Given the description of an element on the screen output the (x, y) to click on. 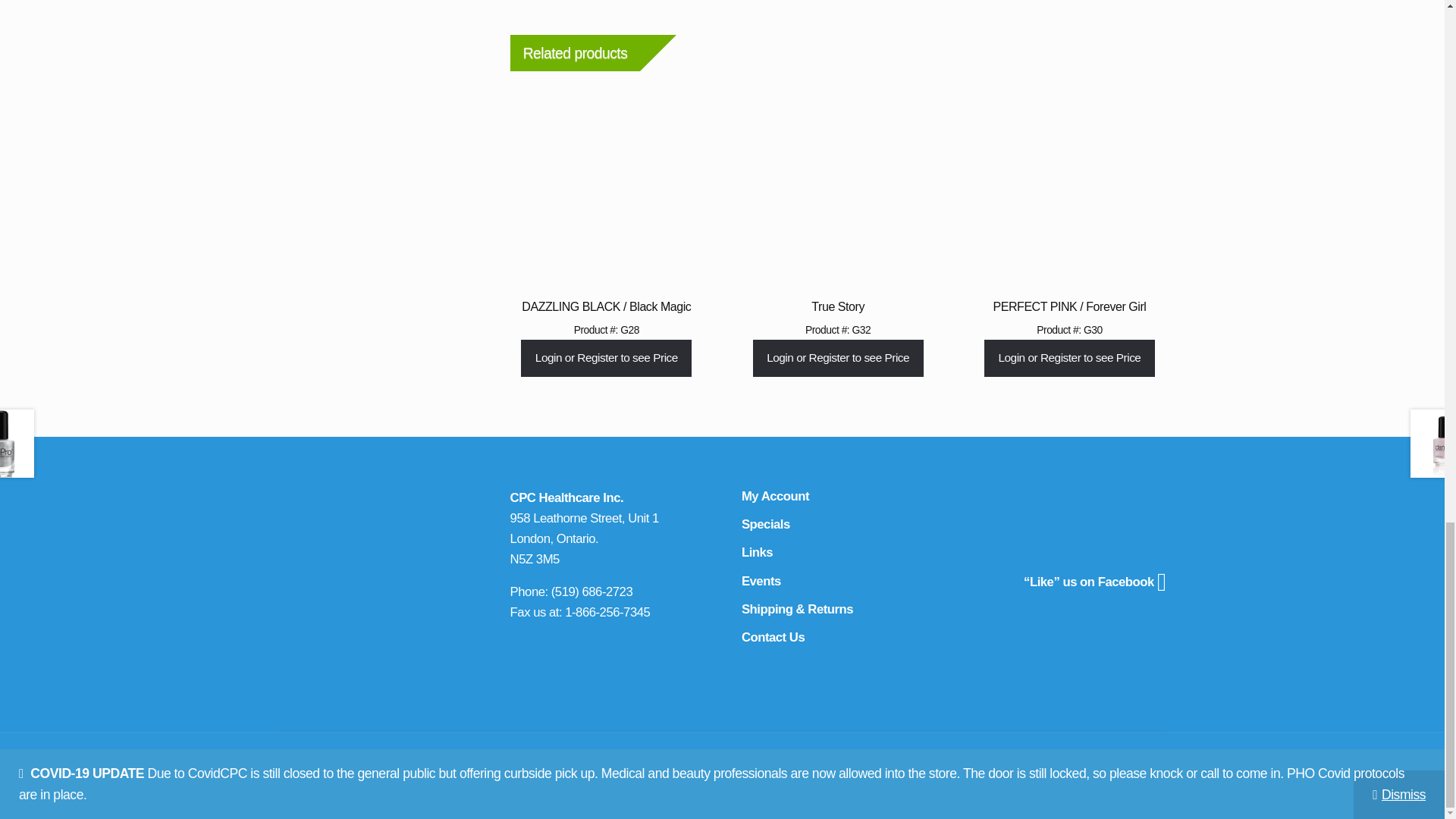
C P C Healthcare Inc., Hospital Supplies, London, ON (1109, 508)
Login or Register to see Price (606, 358)
